Given the description of an element on the screen output the (x, y) to click on. 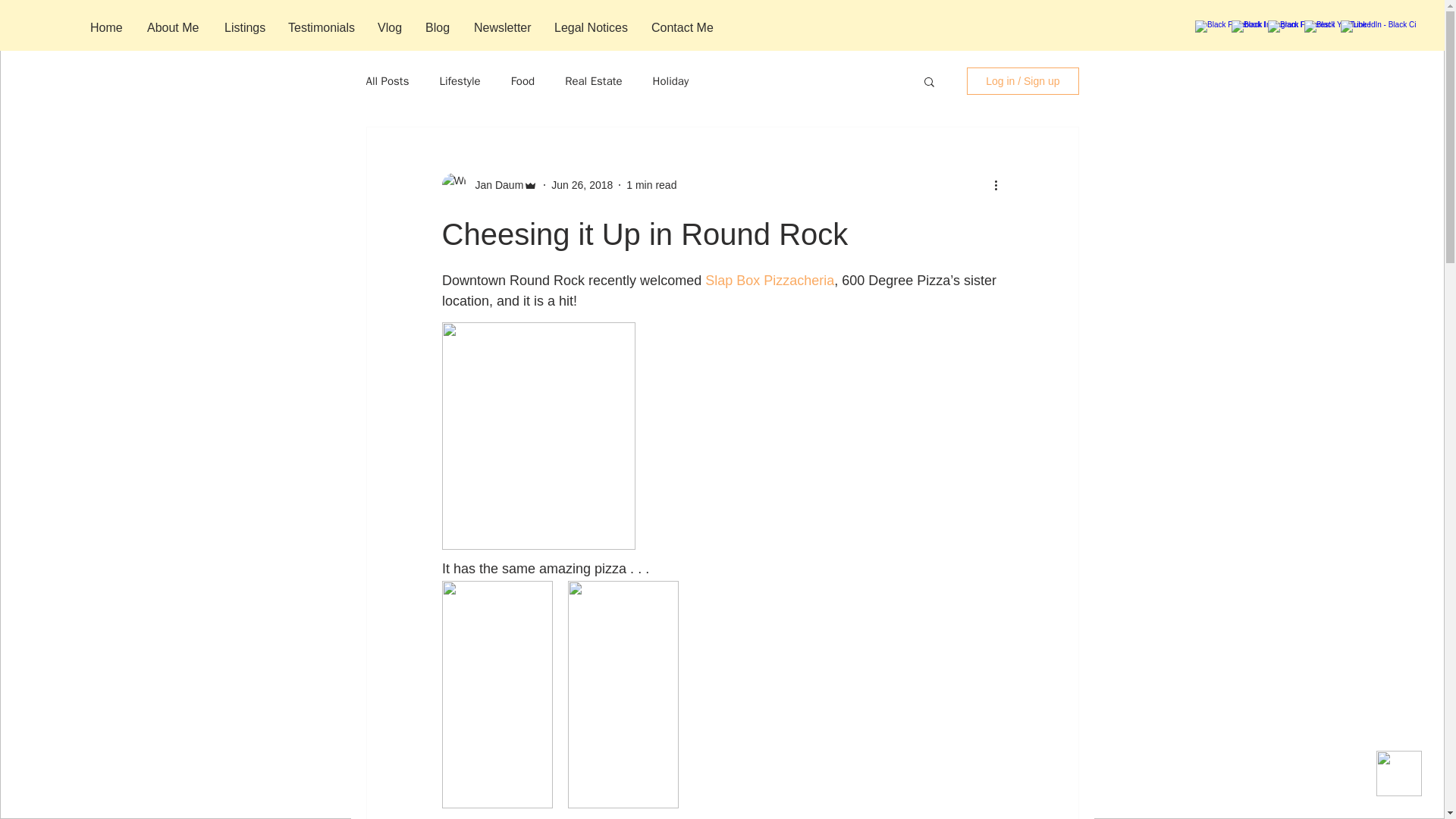
Jun 26, 2018 (581, 184)
Legal Notices (591, 27)
About Me (173, 27)
Newsletter (503, 27)
Lifestyle (459, 81)
Testimonials (321, 27)
1 min read (651, 184)
Vlog (389, 27)
Blog (438, 27)
Listings (244, 27)
